Given the description of an element on the screen output the (x, y) to click on. 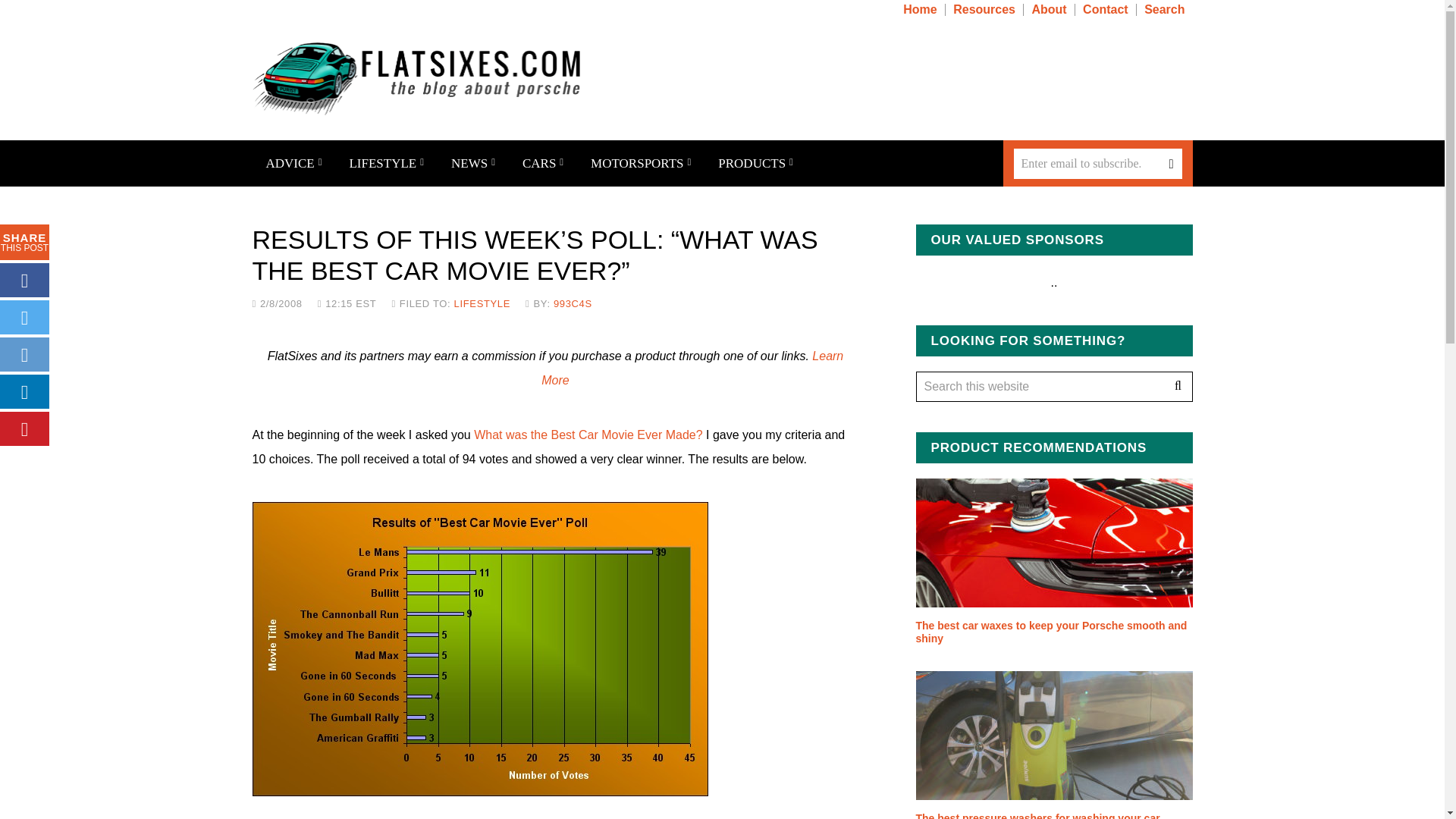
NEWS (473, 163)
Home (921, 9)
LIFESTYLE (386, 163)
FLATSIXES (415, 78)
Contact (1107, 9)
Resources (986, 9)
About (1050, 9)
Search (1177, 386)
CARS (542, 163)
ADVICE (292, 163)
Search (1166, 9)
Search (1177, 386)
